Given the description of an element on the screen output the (x, y) to click on. 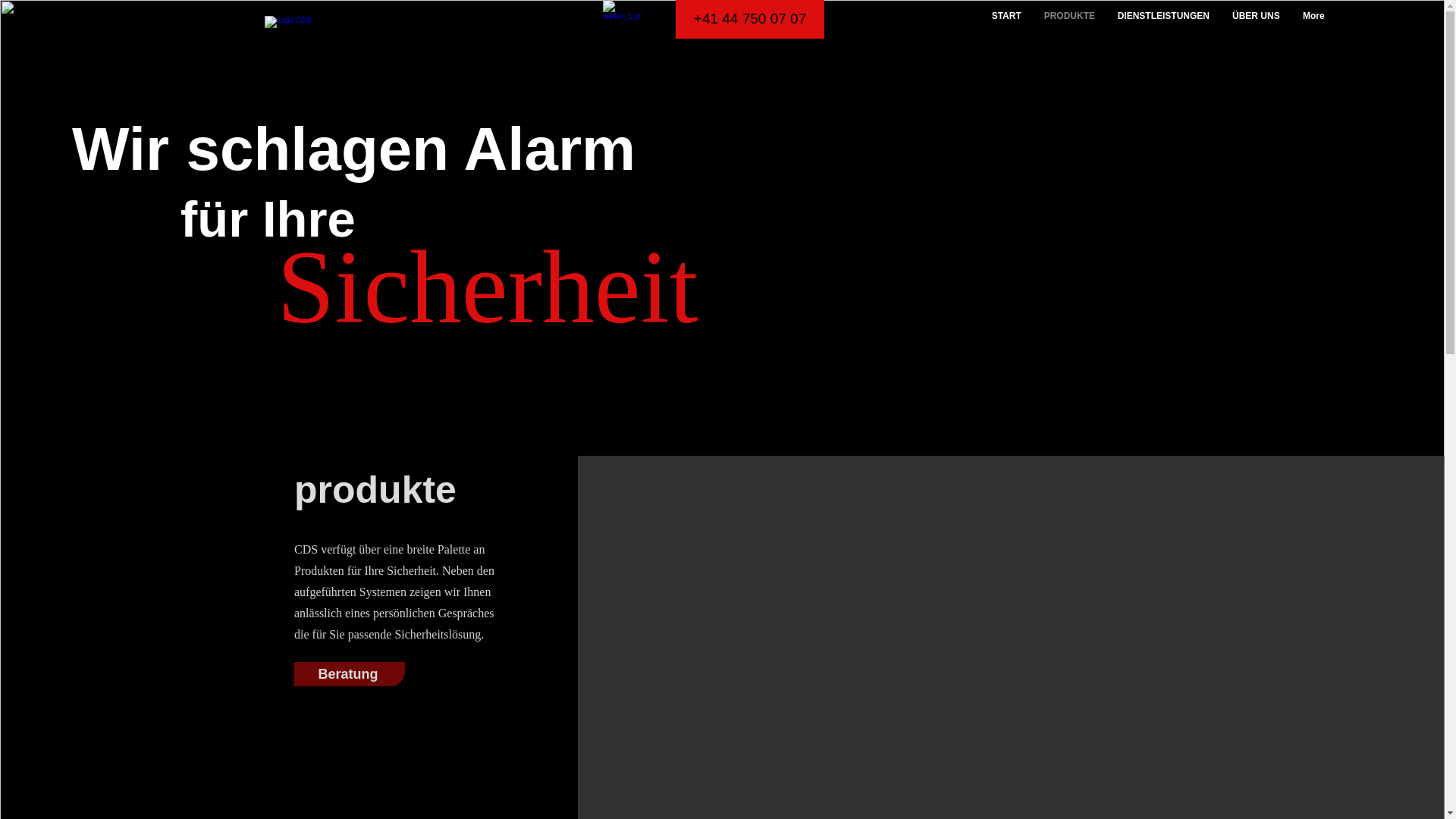
+41 44 750 07 07 Element type: text (749, 19)
START Element type: text (1006, 16)
PRODUKTE Element type: text (1069, 16)
Beratung Element type: text (349, 674)
DIENSTLEISTUNGEN Element type: text (1163, 16)
